Given the description of an element on the screen output the (x, y) to click on. 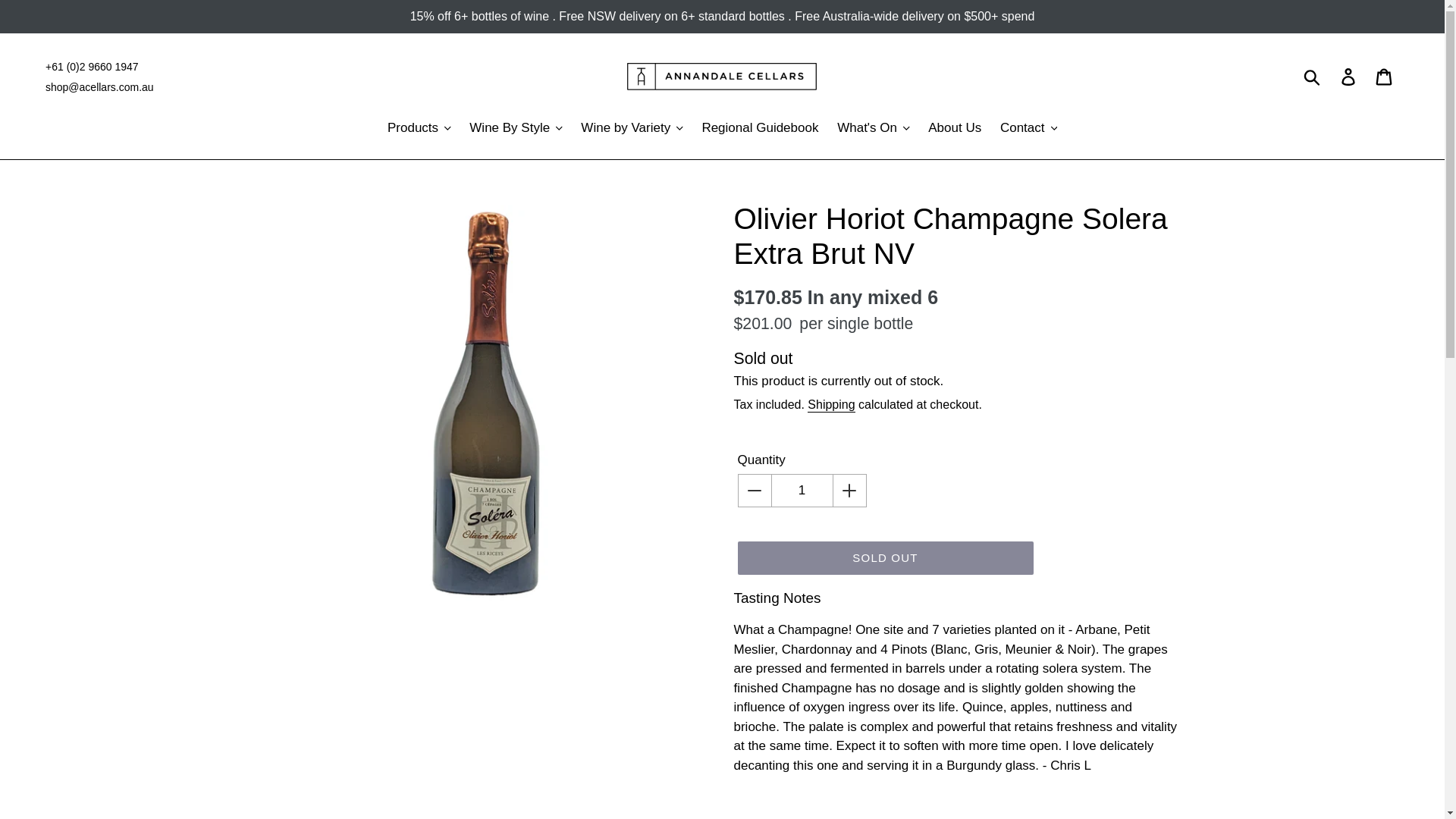
Submit (1313, 76)
Log in (1349, 76)
Cart (1385, 76)
1 (801, 490)
